Given the description of an element on the screen output the (x, y) to click on. 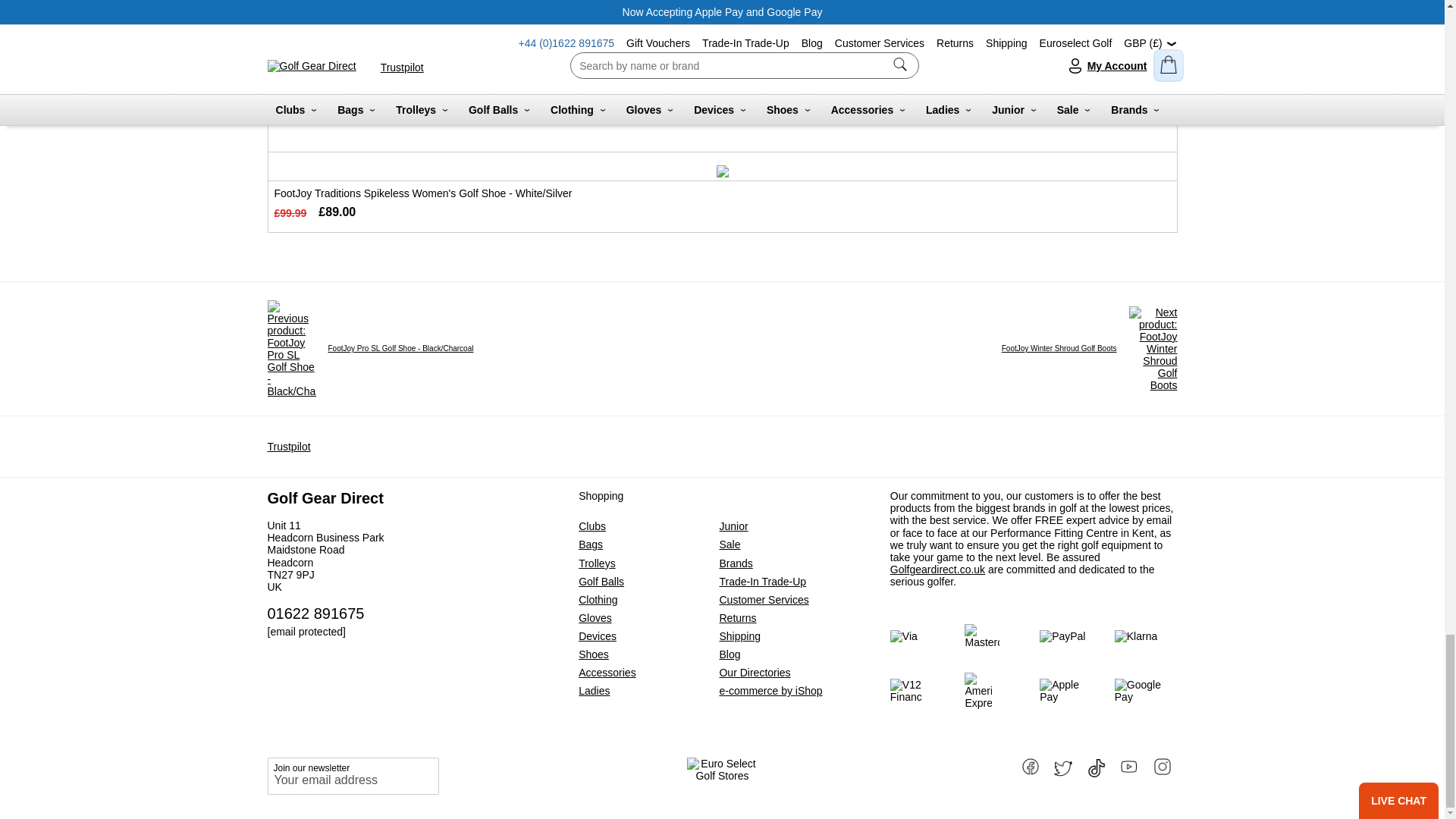
Your email address (352, 775)
Twitter (1064, 763)
TikTok (1097, 763)
YouTube (1130, 763)
Facebook (1032, 763)
Instagram (1163, 763)
